Given the description of an element on the screen output the (x, y) to click on. 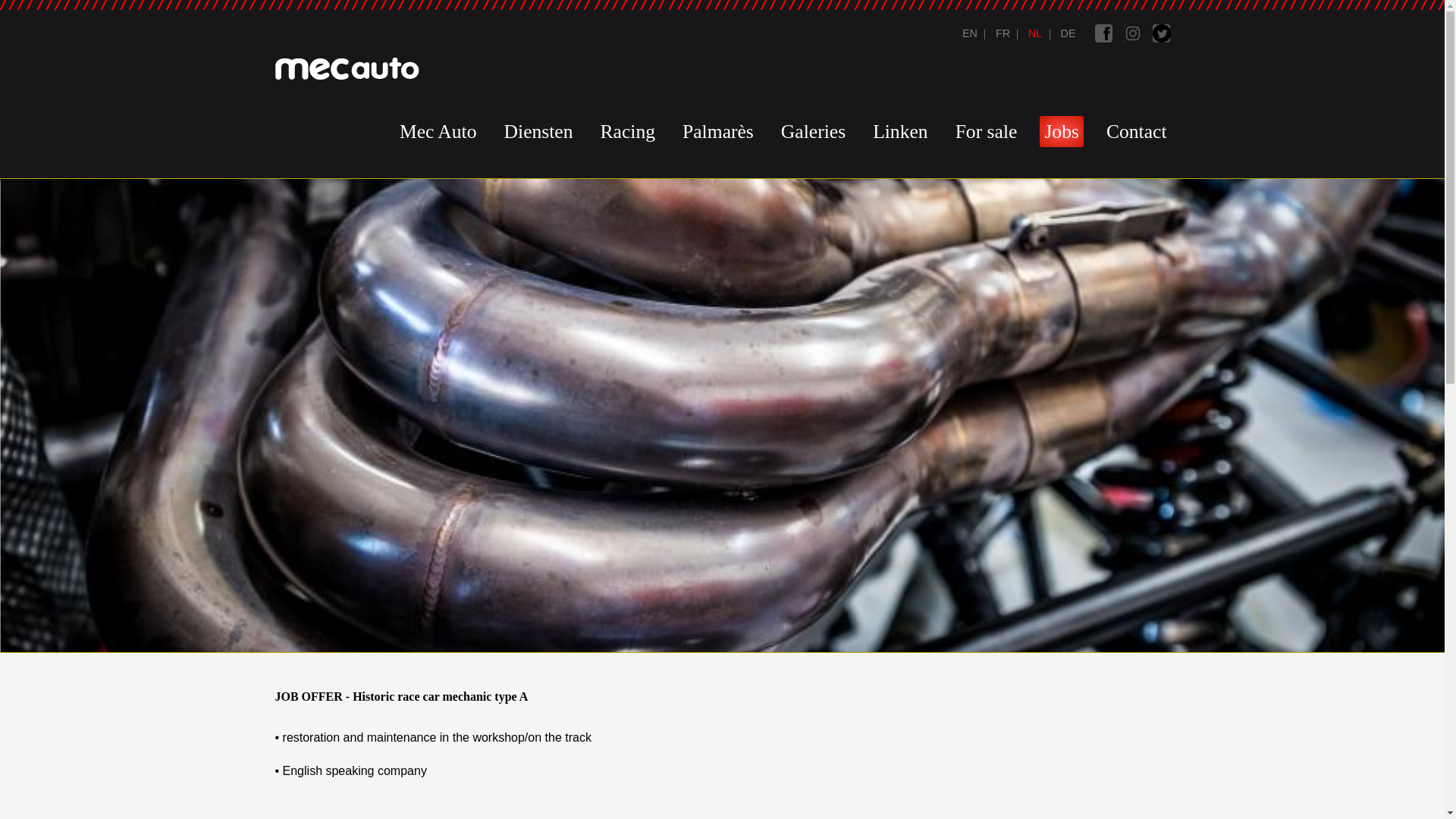
EN (970, 33)
Contact (1137, 131)
Jobs (1066, 33)
Jobs (1033, 33)
Mec Auto (437, 131)
Racing (628, 131)
Linken (900, 131)
Overslaan en naar de inhoud gaan (693, 1)
FR (1001, 33)
Diensten (538, 131)
DE (1066, 33)
Jobs (1061, 131)
Jobs (970, 33)
Jobs (1001, 33)
For sale (986, 131)
